Given the description of an element on the screen output the (x, y) to click on. 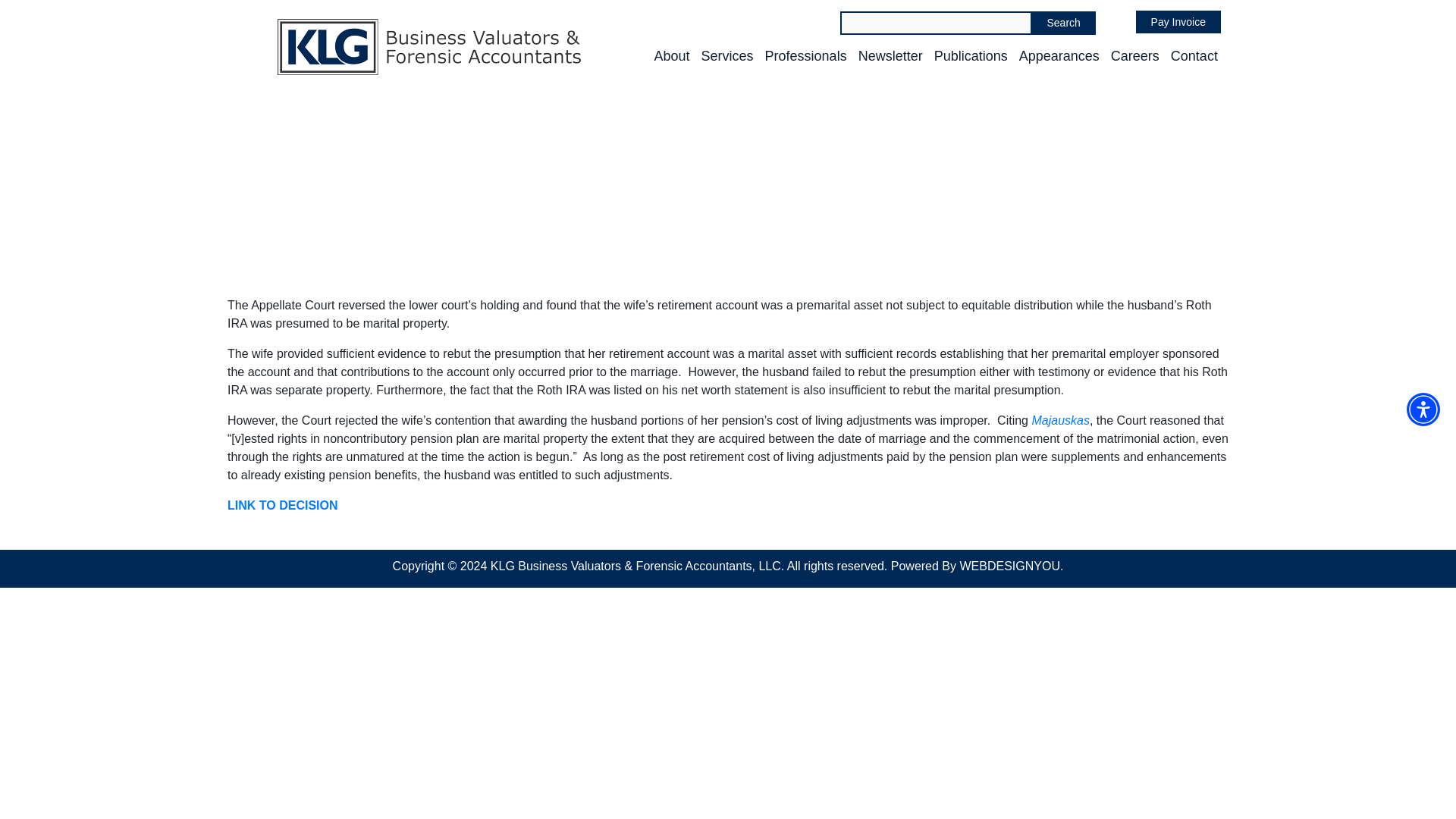
LINK TO DECISION (282, 504)
WEBDESIGNYOU. (1010, 565)
Contact (1193, 55)
Newsletter (891, 55)
Search (1062, 23)
Professionals (806, 55)
Careers (1134, 55)
Publications (970, 55)
Services (727, 55)
Search (1062, 23)
Appearances (1059, 55)
Pay Invoice (1178, 21)
Accessibility Menu (1422, 409)
Majauskas (1059, 420)
About (670, 55)
